Given the description of an element on the screen output the (x, y) to click on. 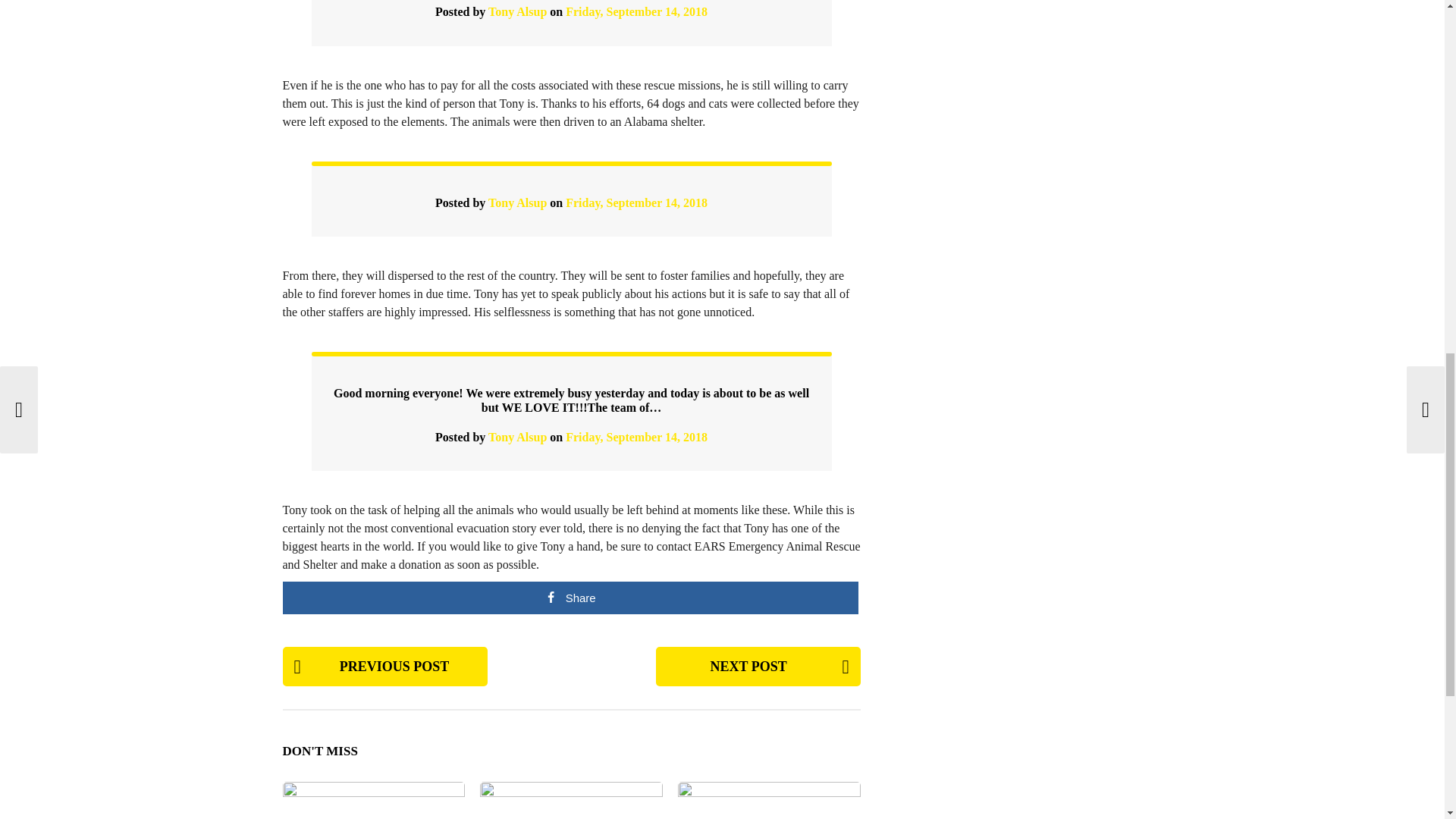
Friday, September 14, 2018 (636, 11)
Tony Alsup (517, 436)
Share (569, 597)
Tony Alsup (517, 202)
PREVIOUS POST (384, 666)
Tony Alsup (517, 11)
Friday, September 14, 2018 (636, 436)
Friday, September 14, 2018 (636, 202)
NEXT POST (758, 666)
